Given the description of an element on the screen output the (x, y) to click on. 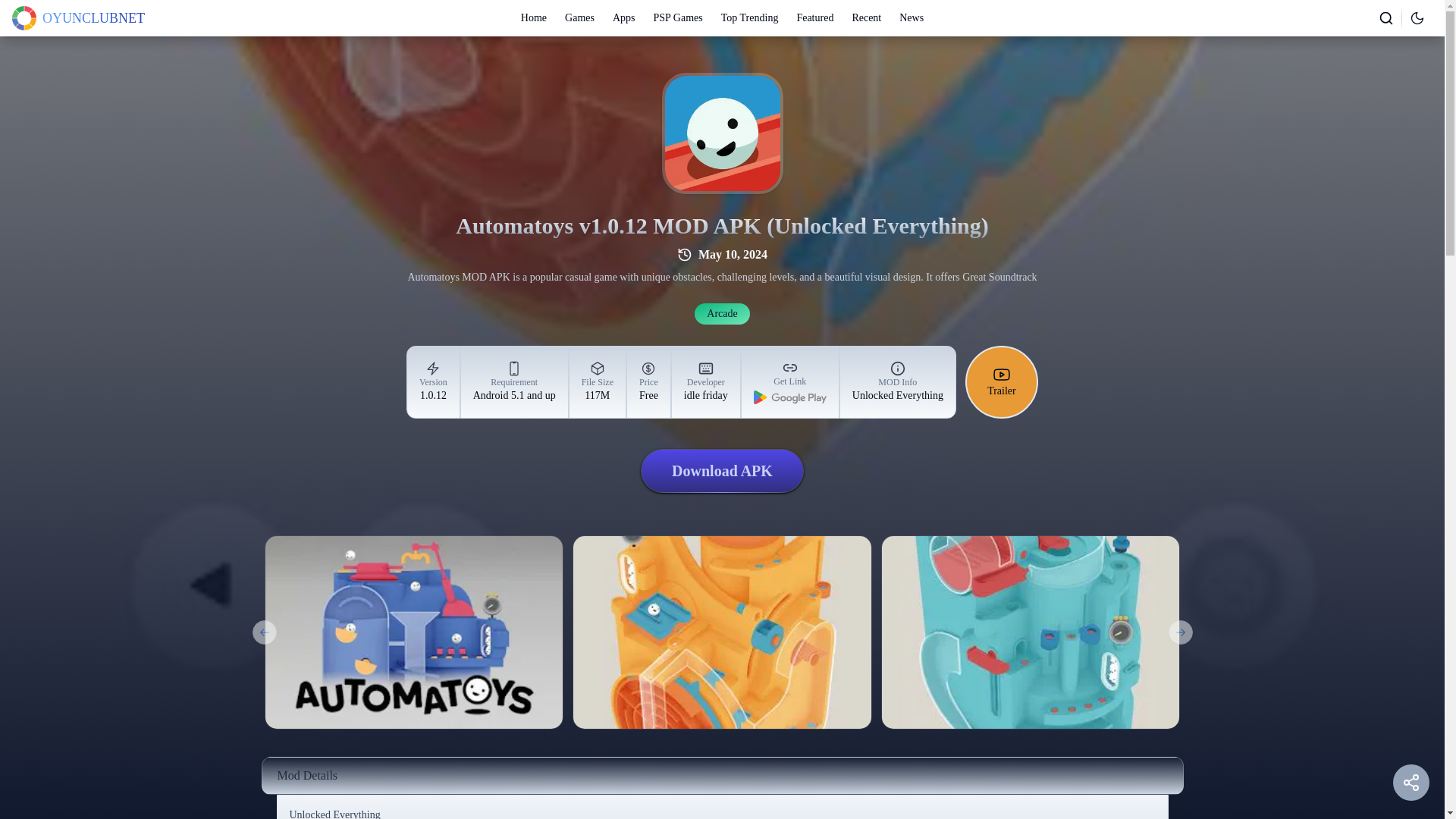
Apps (623, 17)
Search (1385, 17)
Recent (706, 382)
Home (865, 17)
OYUNCLUBNET (534, 17)
Download APK (77, 17)
arcade (721, 470)
Top Trending (721, 313)
News (749, 17)
Games (911, 17)
PSP Games (579, 17)
Mod Details (678, 17)
Featured (721, 775)
